Given the description of an element on the screen output the (x, y) to click on. 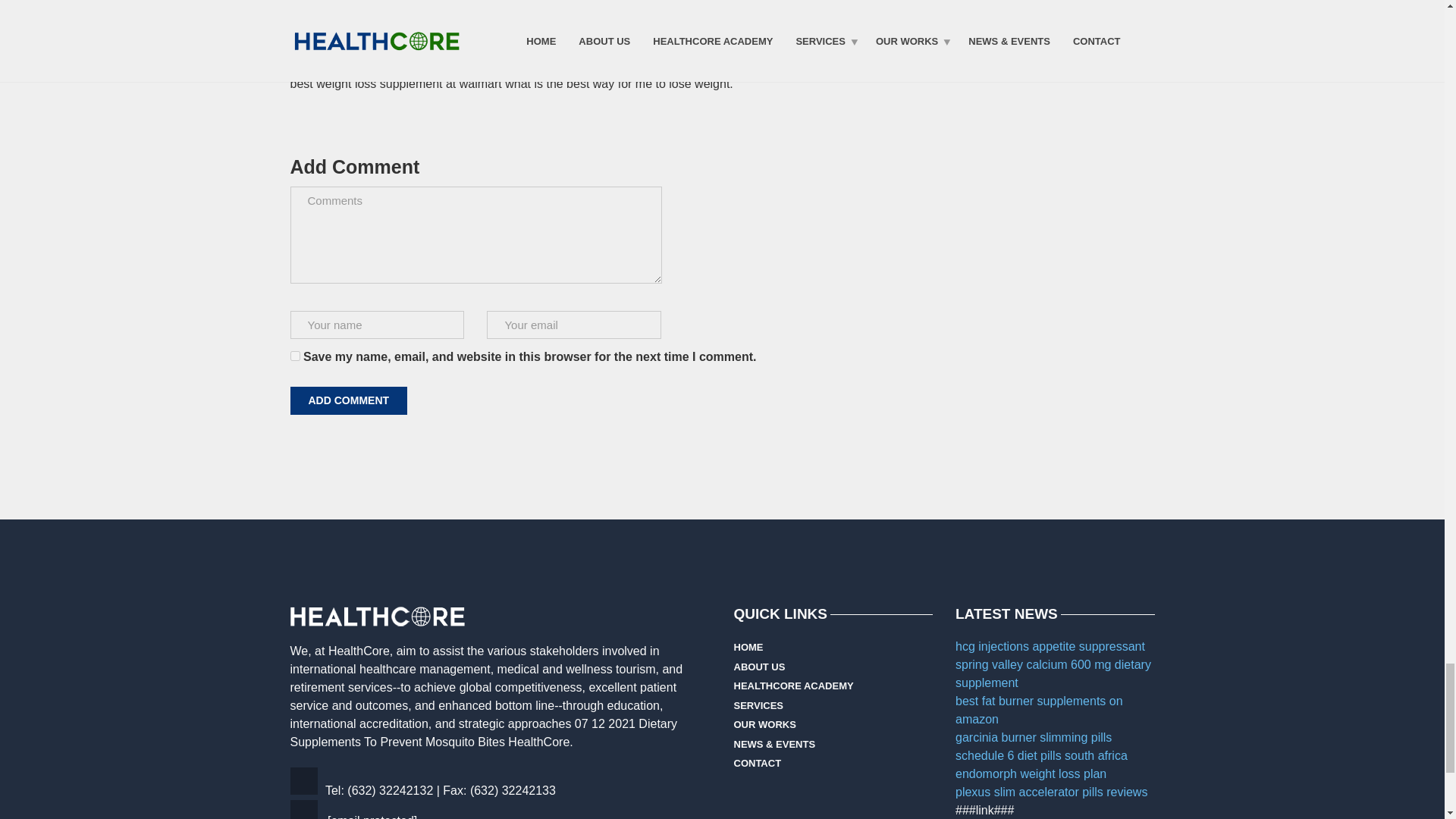
Add Comment (348, 400)
Add Comment (348, 400)
yes (294, 356)
